Given the description of an element on the screen output the (x, y) to click on. 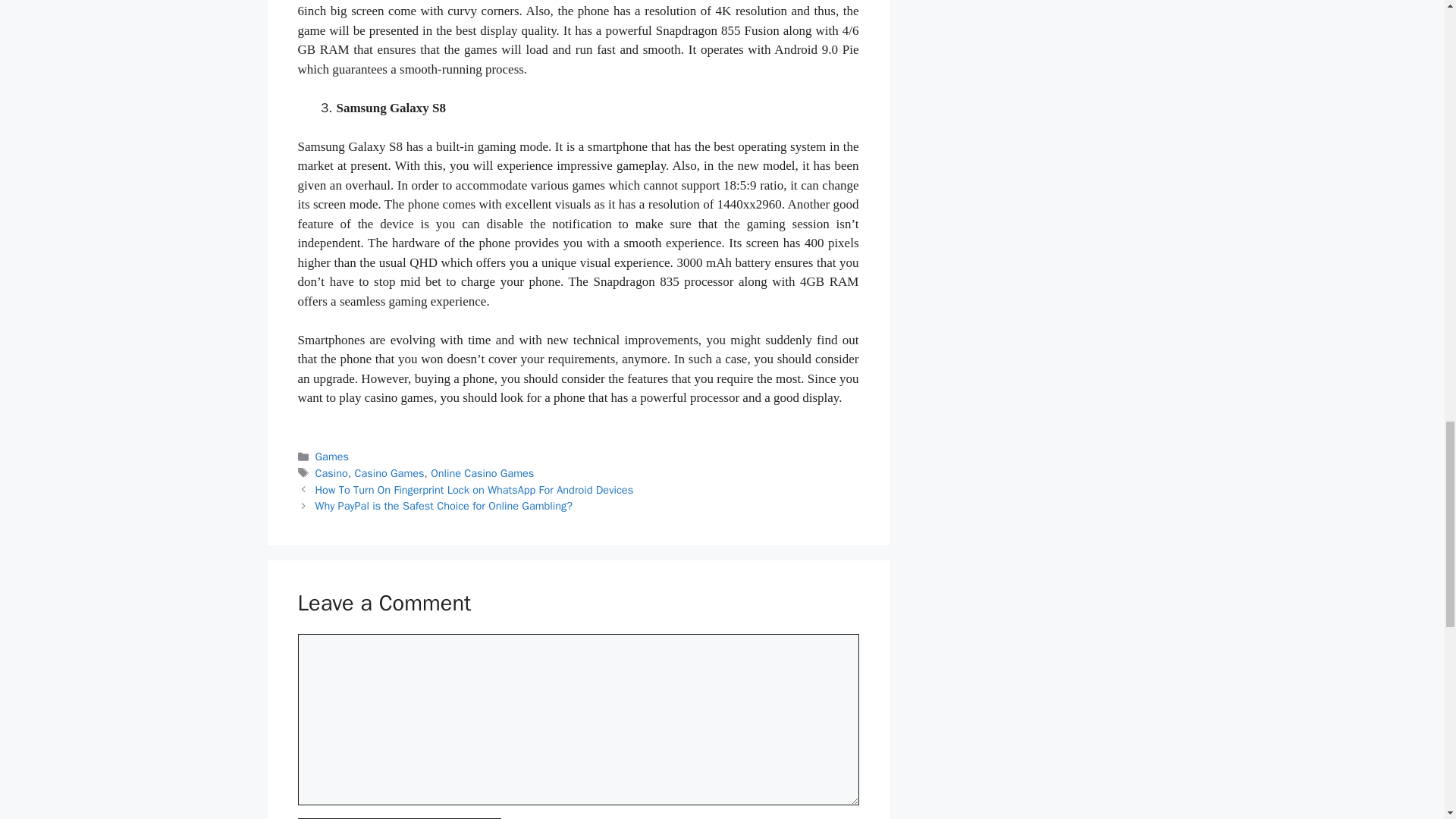
Why PayPal is the Safest Choice for Online Gambling? (443, 505)
Games (332, 456)
Casino (331, 472)
Online Casino Games (482, 472)
Casino Games (390, 472)
